Given the description of an element on the screen output the (x, y) to click on. 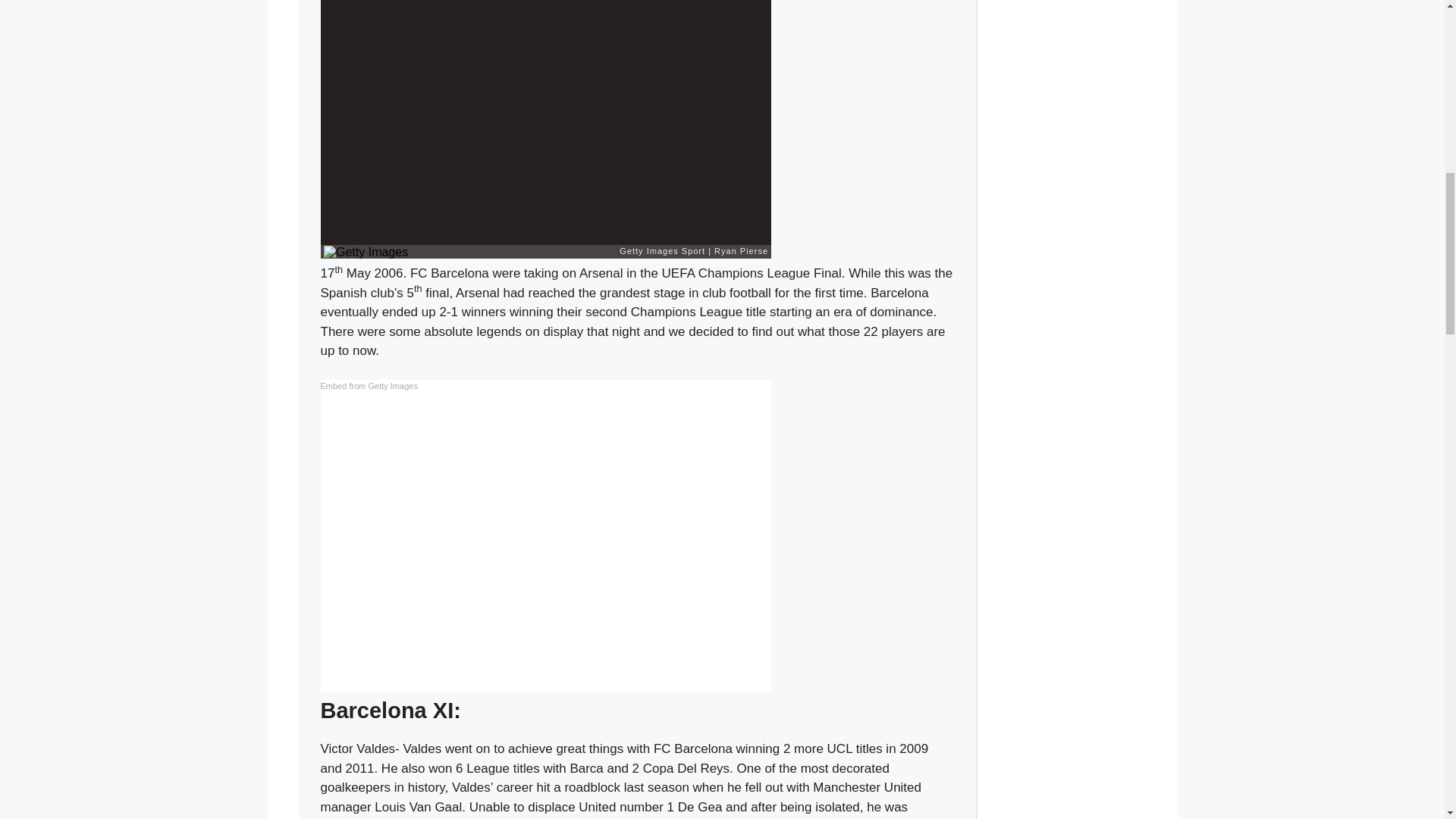
Embed from Getty Images (368, 386)
